Given the description of an element on the screen output the (x, y) to click on. 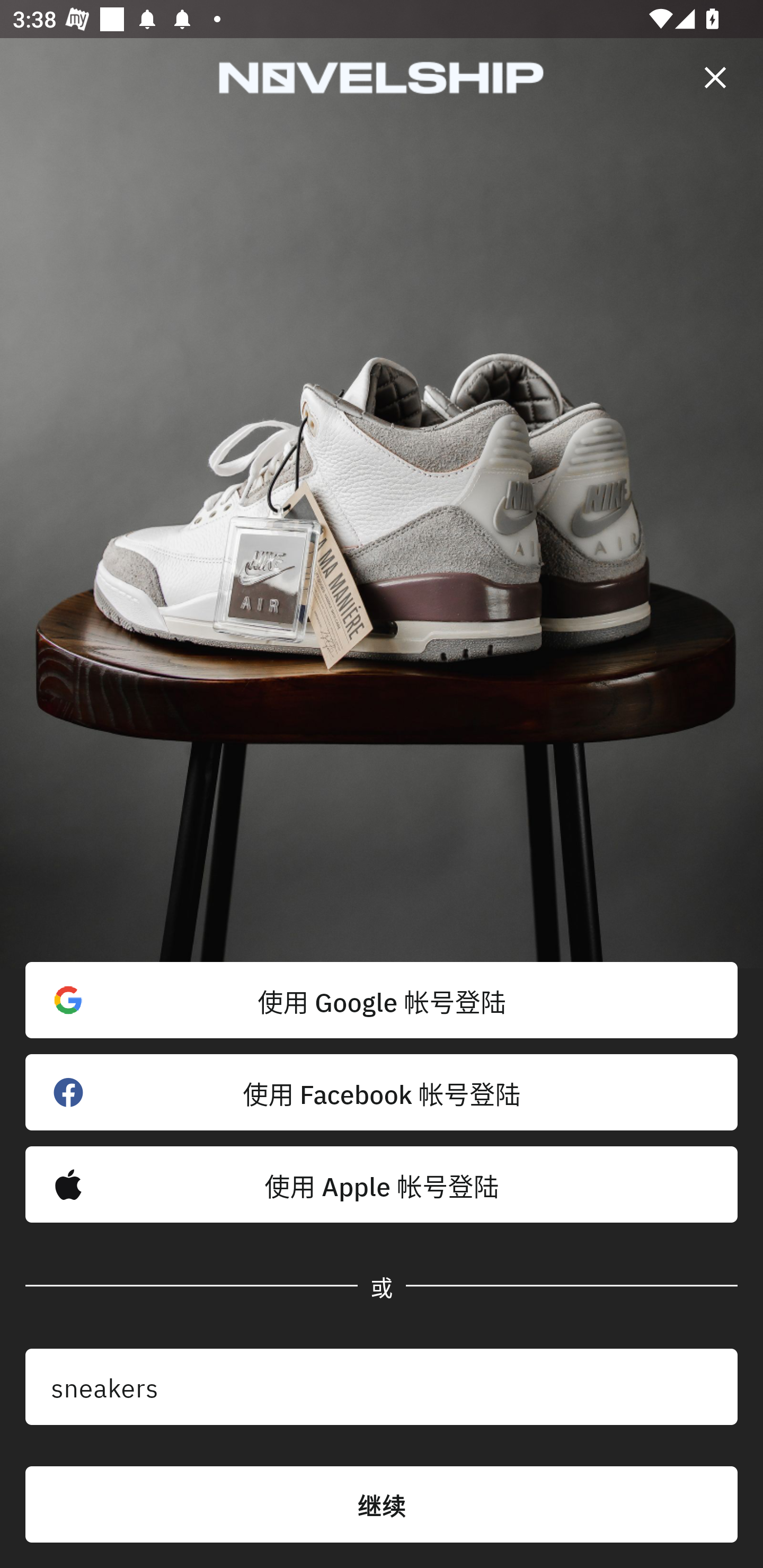
使用 Google 帐号登陆 (381, 1000)
使用 Facebook 帐号登陆 󰈌 (381, 1091)
 使用 Apple 帐号登陆 (381, 1184)
sneakers (381, 1386)
继续 (381, 1504)
